Given the description of an element on the screen output the (x, y) to click on. 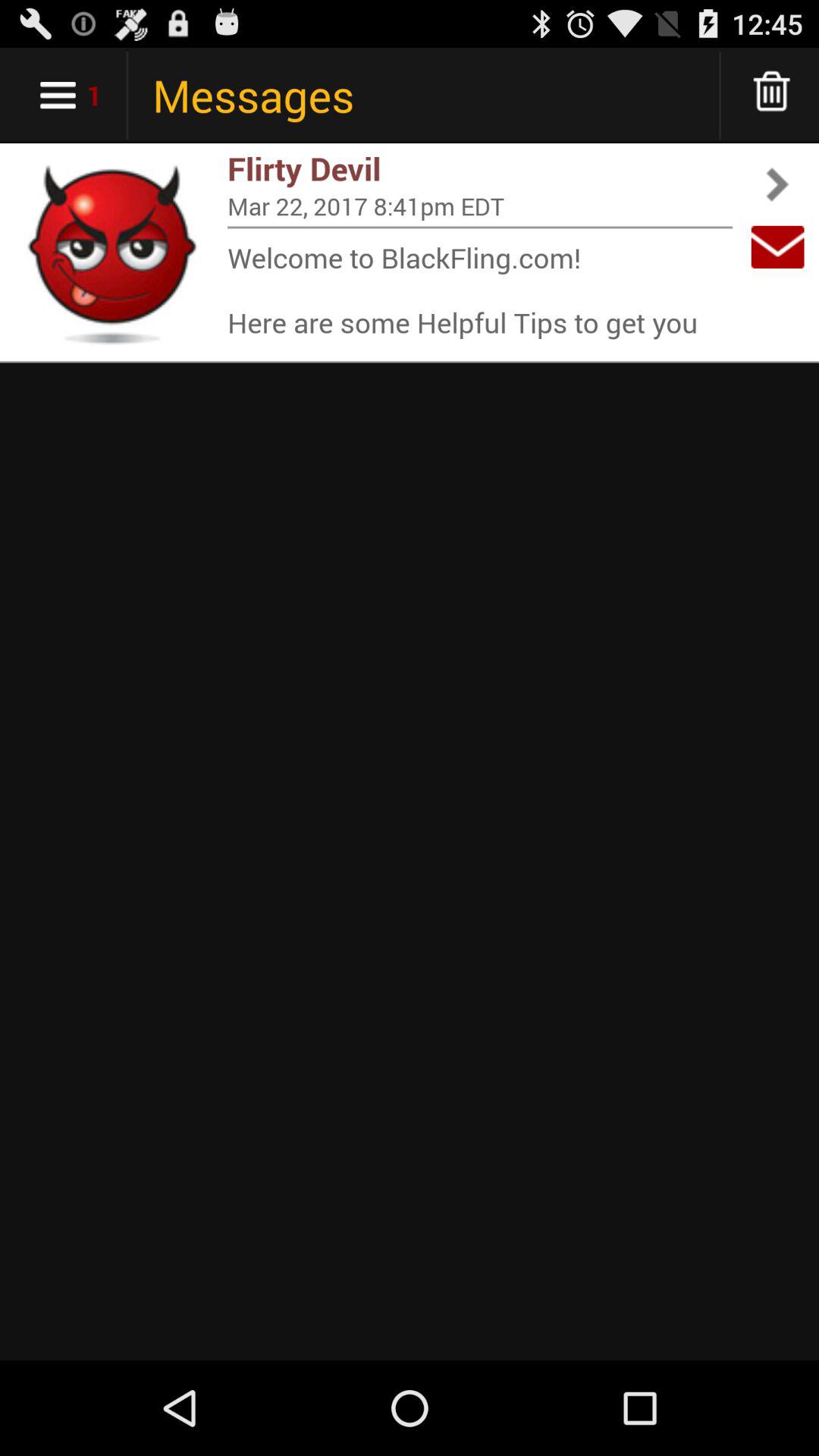
swipe until the mar 22 2017 icon (479, 205)
